Given the description of an element on the screen output the (x, y) to click on. 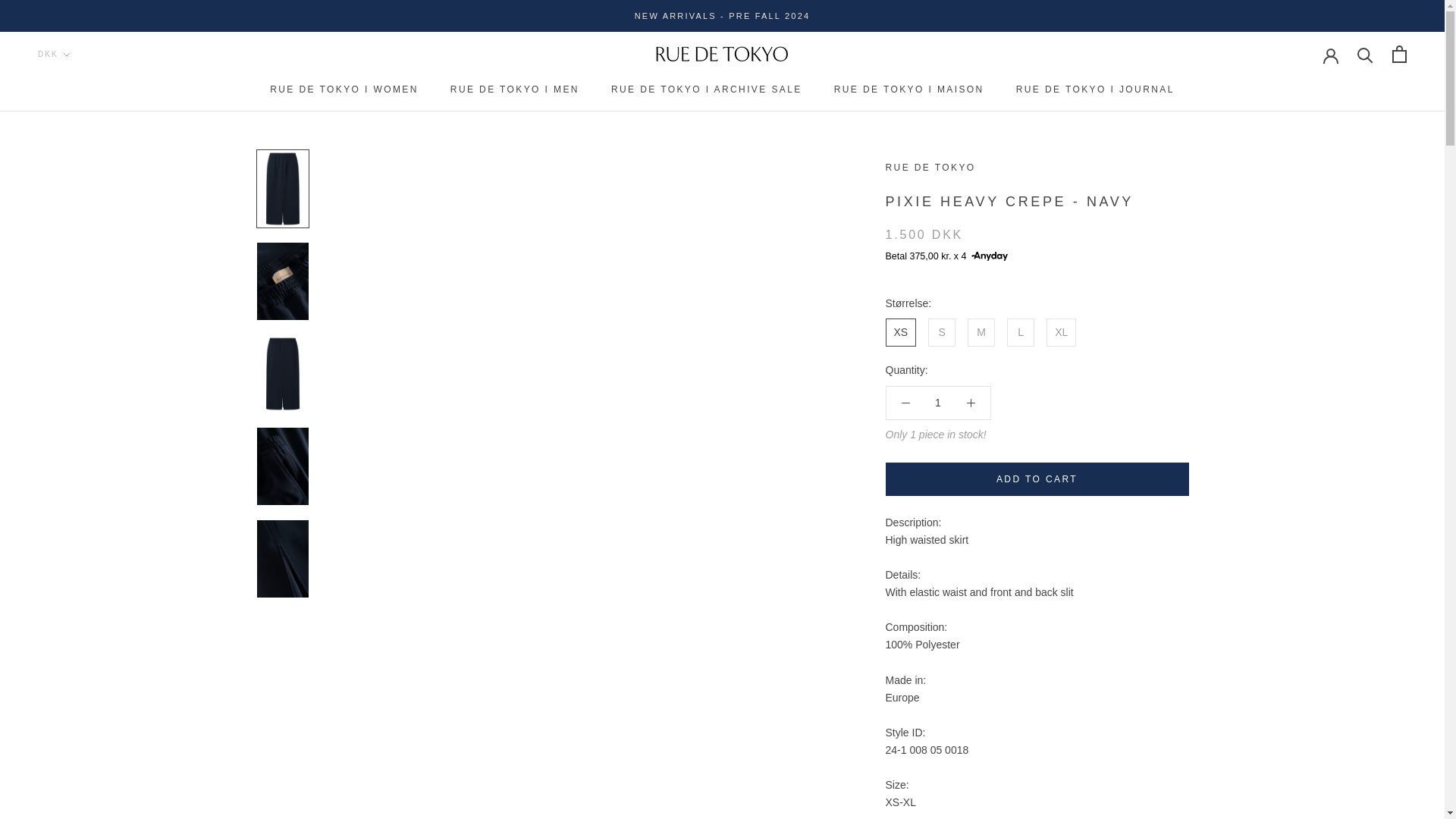
RUE DE TOKYO I WOMEN (344, 89)
Currency selector (53, 53)
1 (938, 402)
NEW ARRIVALS - PRE FALL 2024 (722, 15)
